Given the description of an element on the screen output the (x, y) to click on. 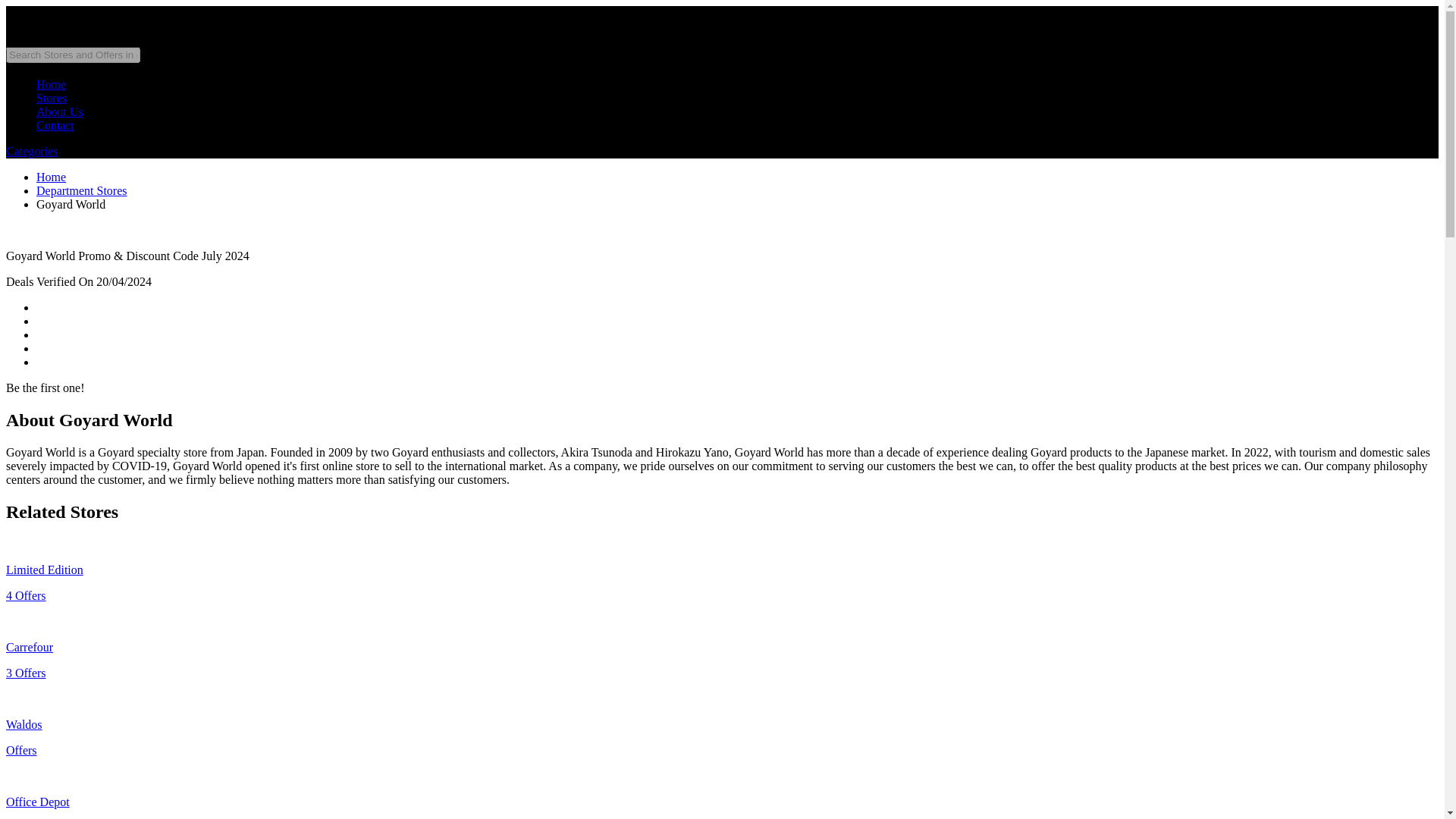
Stores (51, 97)
Categories (31, 151)
About Us (59, 111)
Department Stores (82, 190)
Contact (55, 124)
Home (50, 176)
Goyard World (70, 204)
Home (50, 83)
